Given the description of an element on the screen output the (x, y) to click on. 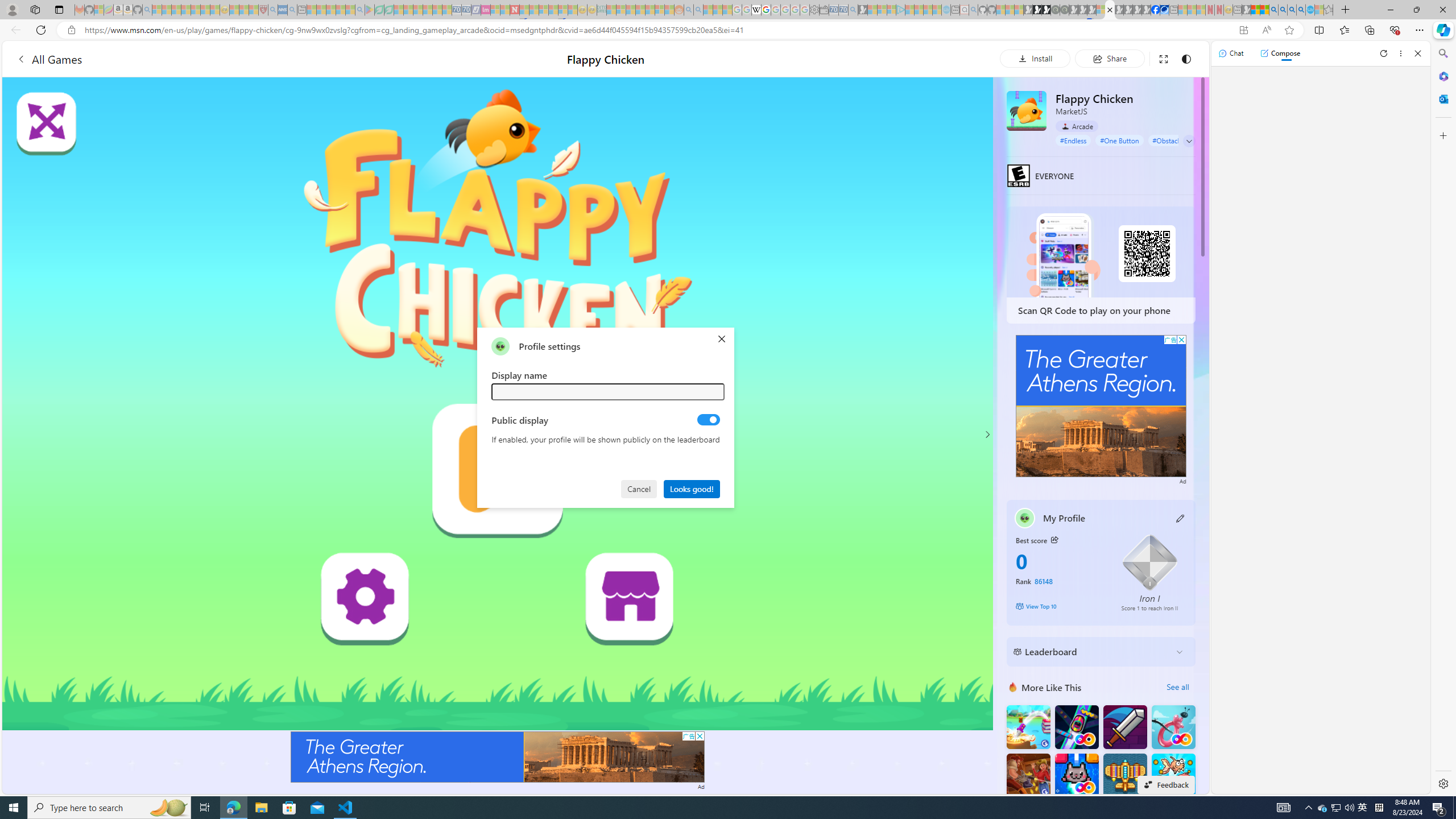
Class: button edit-icon (1180, 517)
Google Chrome Internet Browser Download - Search Images (1300, 9)
Class: expand-arrow neutral (1188, 141)
Atlantic Sky Hunter (1124, 775)
